Given the description of an element on the screen output the (x, y) to click on. 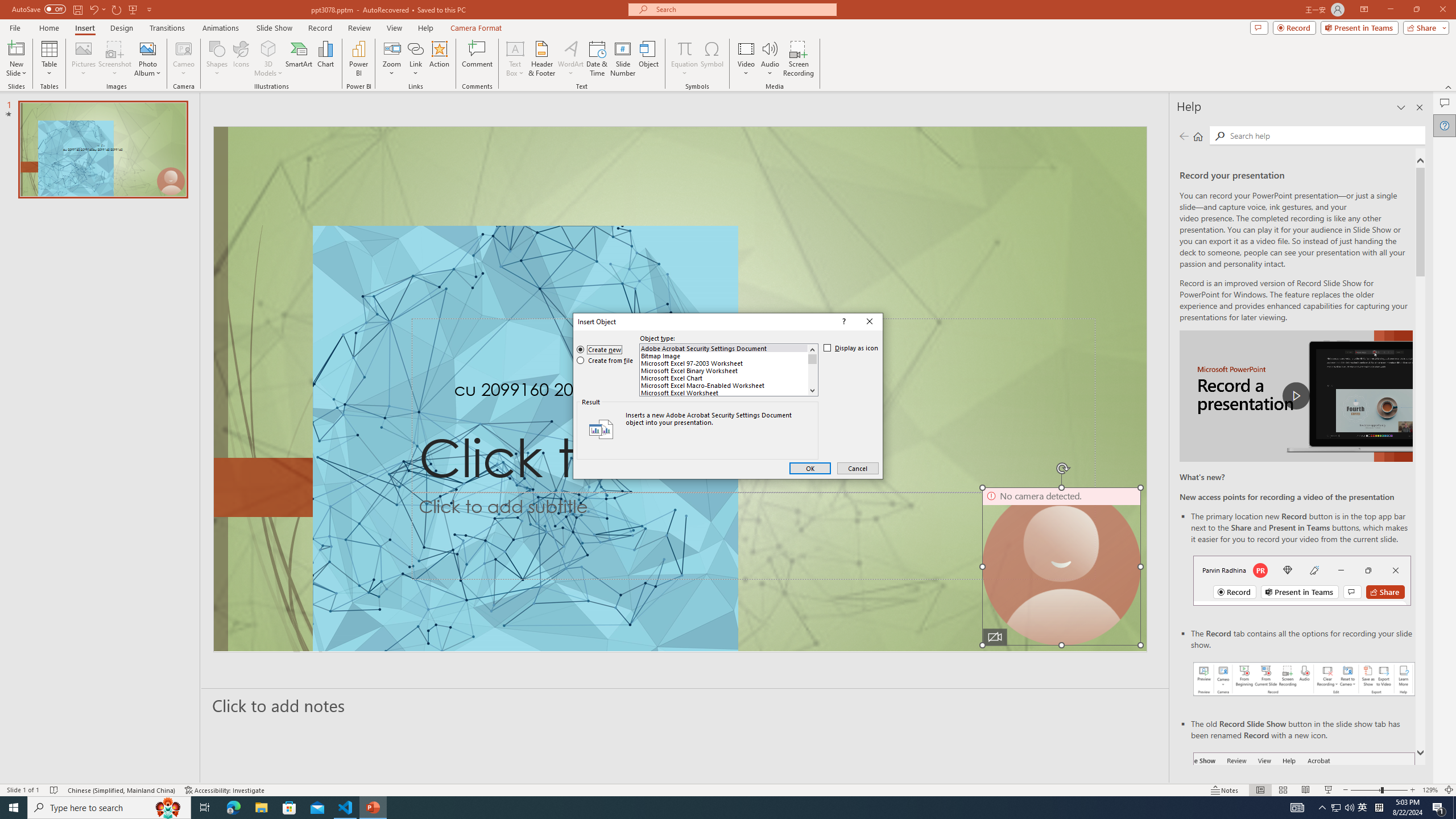
Screenshot (114, 58)
3D Models (268, 58)
Symbol... (711, 58)
Cancel (858, 468)
Chart... (325, 58)
